Given the description of an element on the screen output the (x, y) to click on. 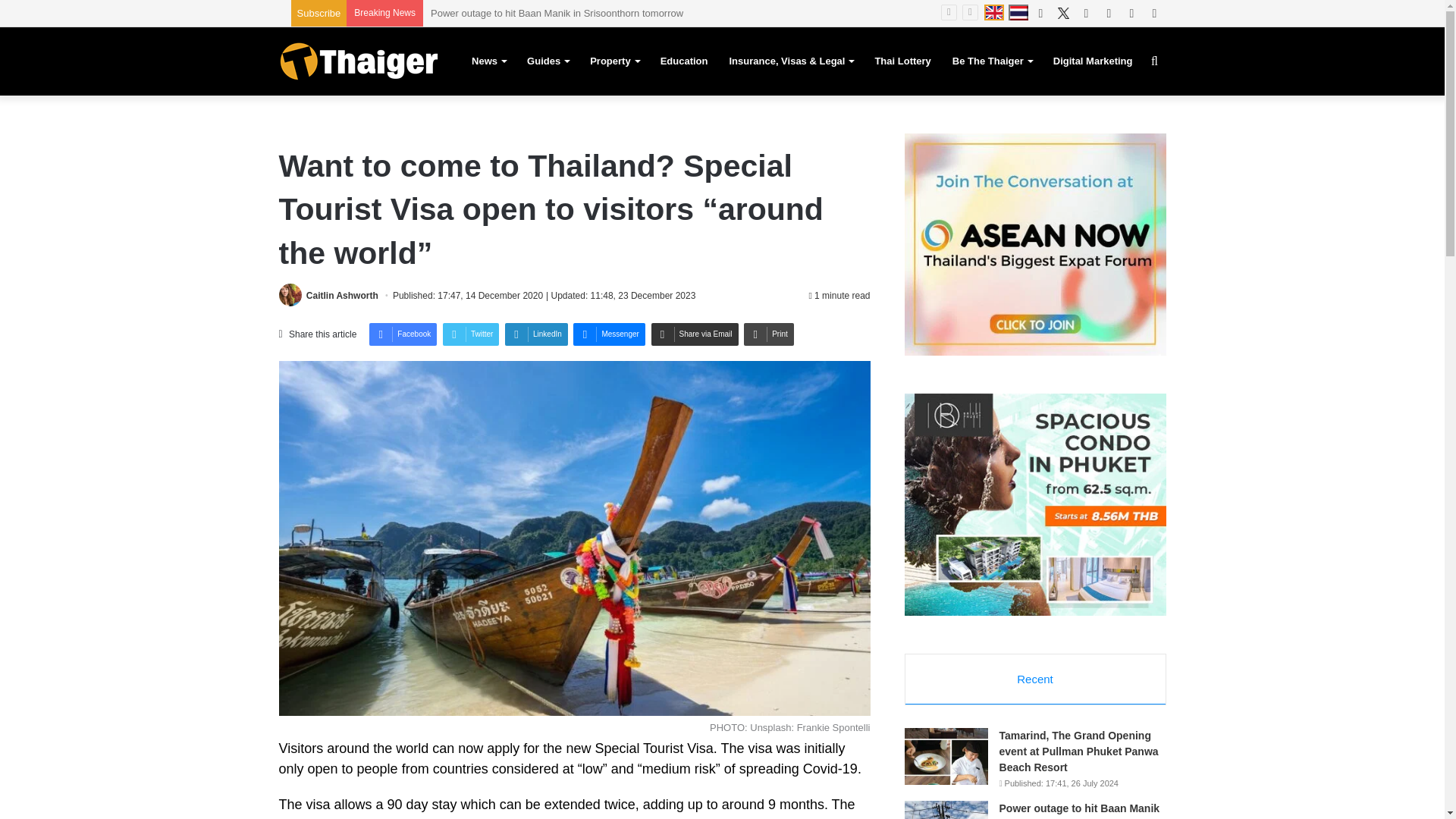
Power outage to hit Baan Manik in Srisoonthorn tomorrow (556, 12)
Subscribe (318, 12)
LinkedIn (536, 333)
Thaiger (358, 60)
Messenger (609, 333)
Print (768, 333)
Facebook (402, 333)
Twitter (470, 333)
Caitlin Ashworth (341, 295)
Share via Email (694, 333)
Business (678, 818)
